Given the description of an element on the screen output the (x, y) to click on. 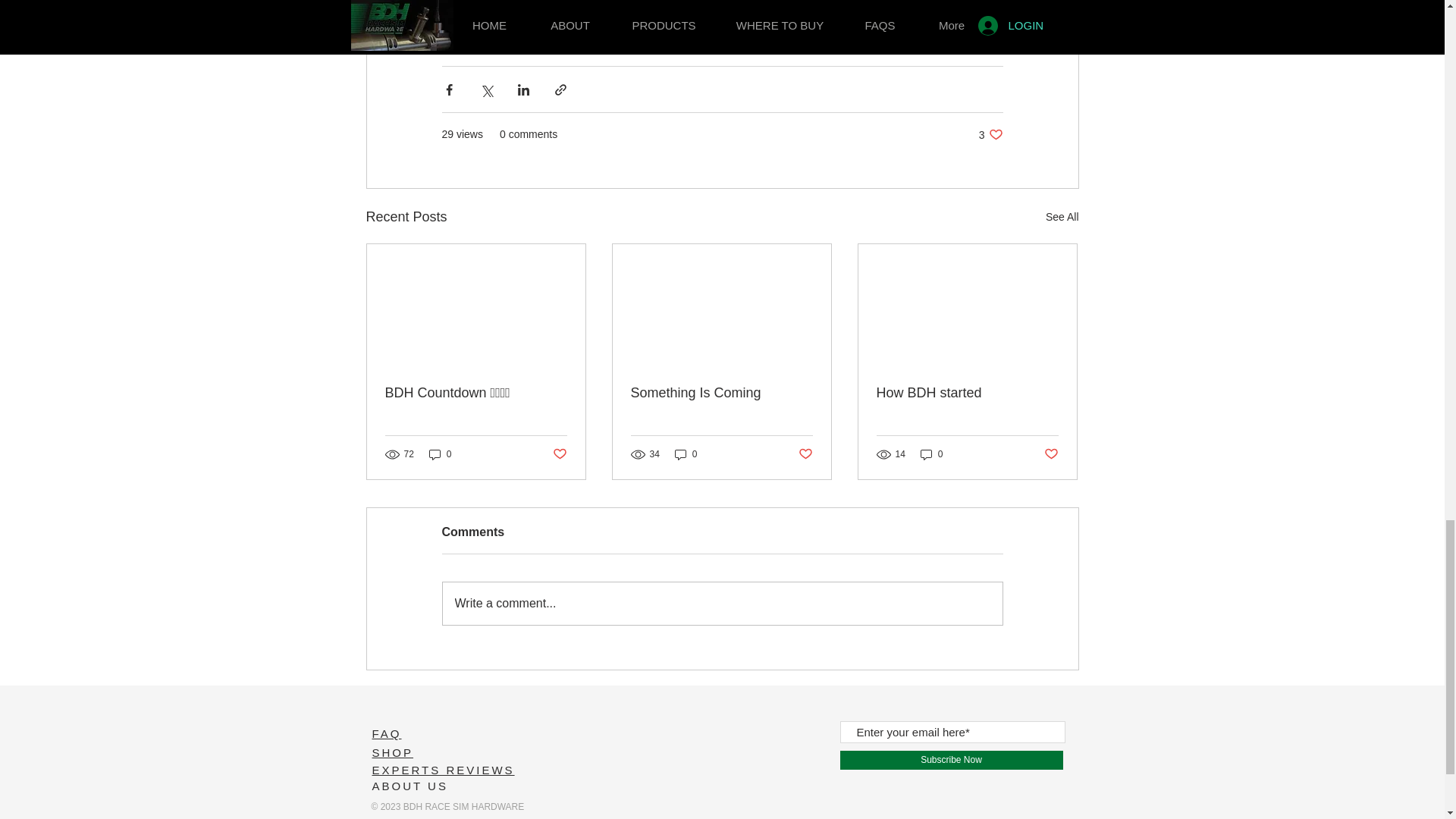
FAQ (386, 733)
Something Is Coming (721, 392)
SHOP (392, 752)
Write a comment... (722, 603)
0 (931, 454)
See All (1061, 217)
How BDH started (967, 392)
0 (685, 454)
Post not marked as liked (1050, 453)
Post not marked as liked (558, 453)
Subscribe Now (951, 760)
Post not marked as liked (804, 453)
EXPERTS REVIEWS (442, 769)
0 (440, 454)
